Given the description of an element on the screen output the (x, y) to click on. 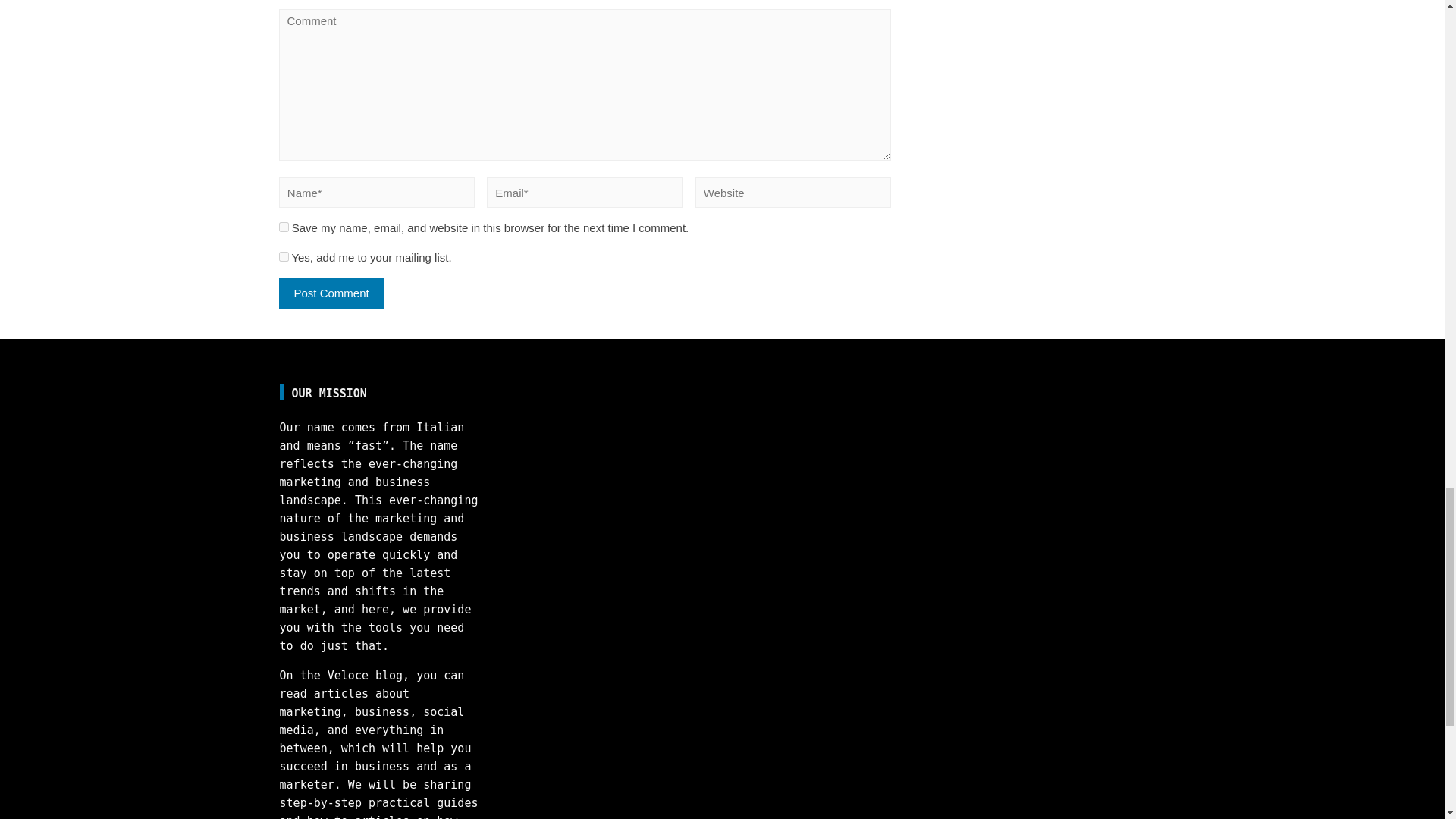
Post Comment (331, 293)
Post Comment (331, 293)
1 (283, 256)
yes (283, 226)
